Given the description of an element on the screen output the (x, y) to click on. 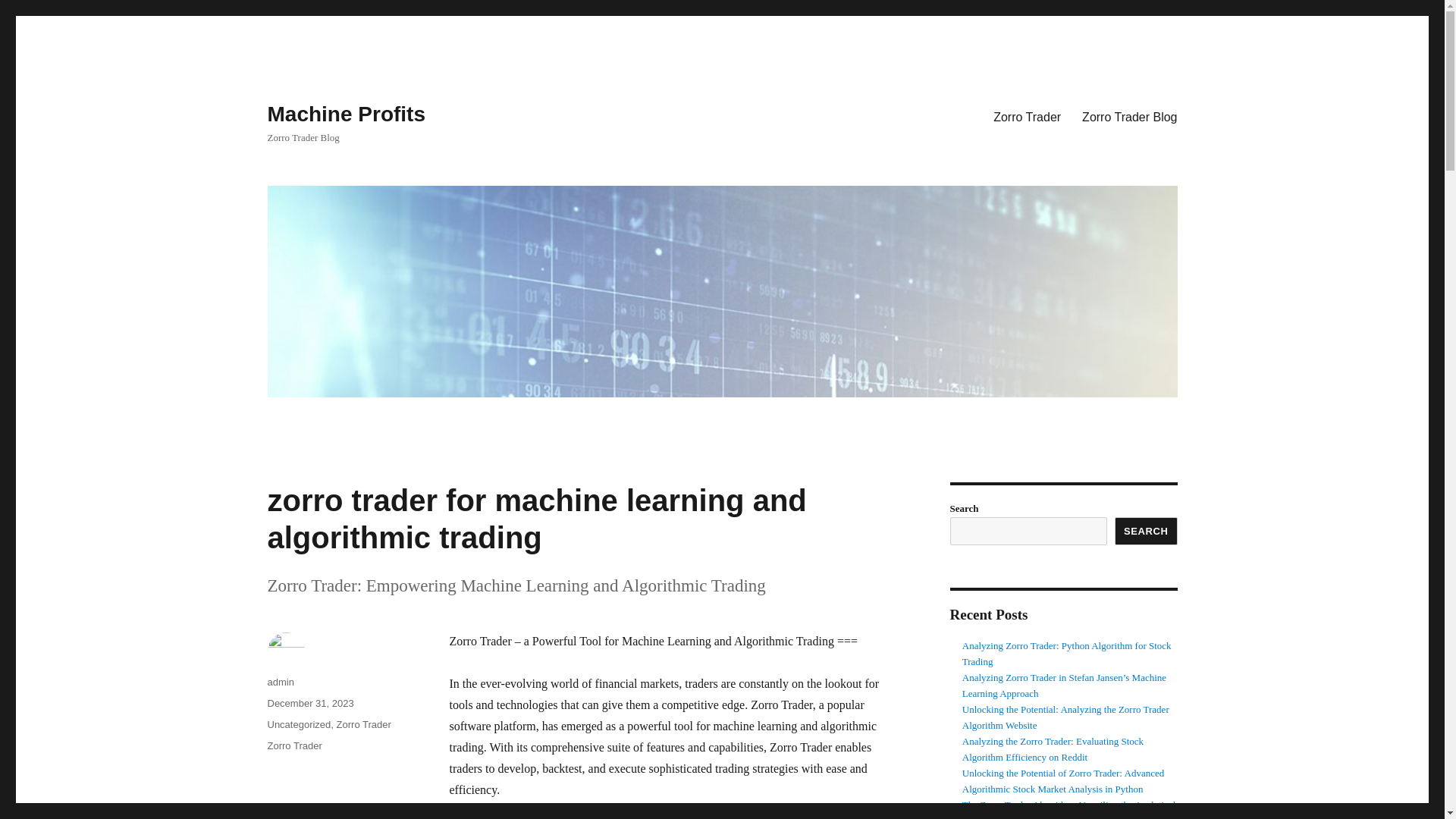
Analyzing Zorro Trader: Python Algorithm for Stock Trading (1067, 653)
Zorro Trader (1026, 116)
December 31, 2023 (309, 703)
admin (280, 681)
Zorro Trader (293, 745)
SEARCH (1146, 530)
Zorro Trader (363, 724)
